Given the description of an element on the screen output the (x, y) to click on. 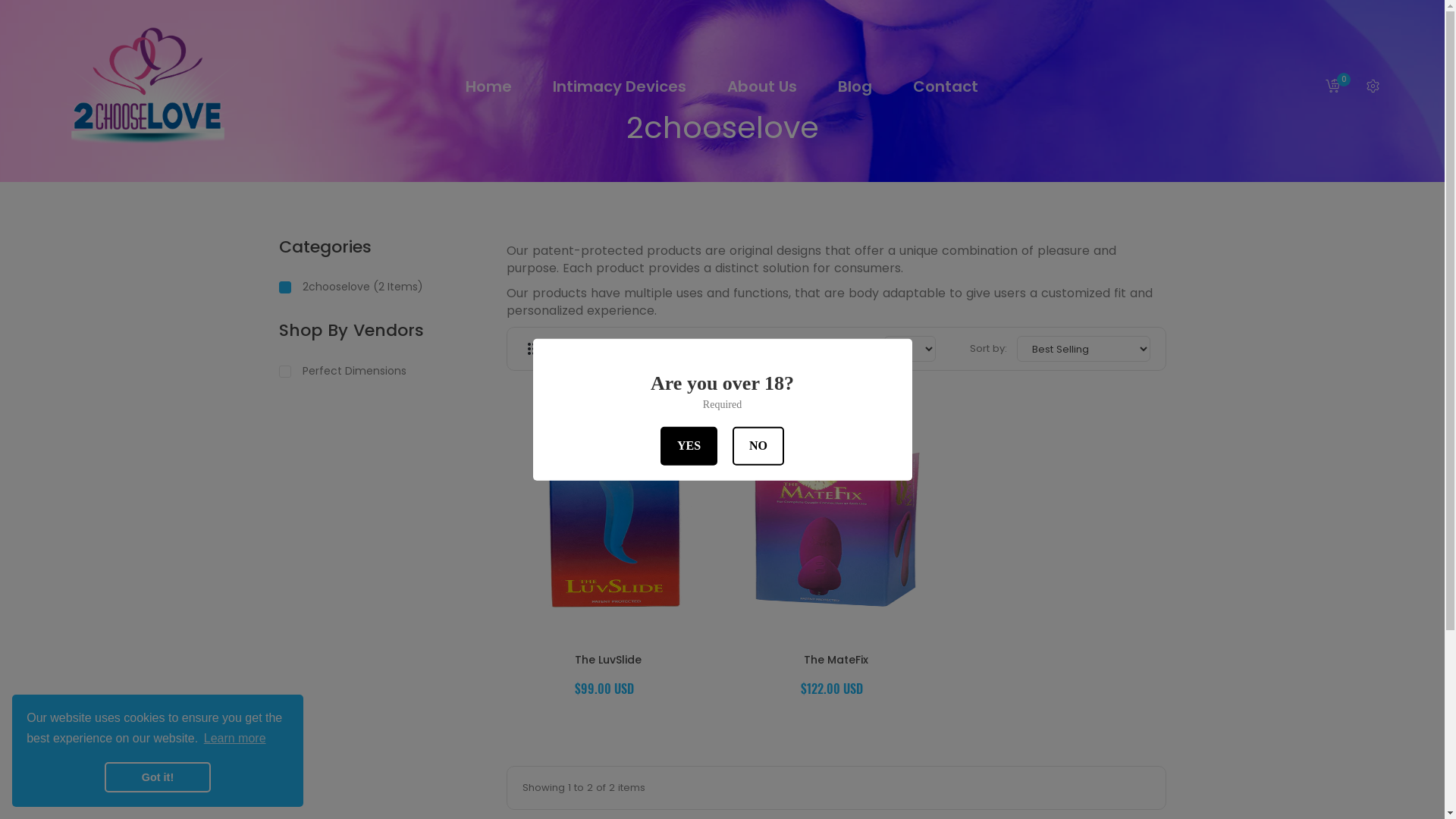
Home Element type: text (488, 86)
Perfect Dimensions Element type: text (381, 370)
Got it! Element type: text (157, 777)
The LuvSlide Element type: text (608, 659)
List Element type: text (633, 348)
NO Element type: text (758, 445)
The MateFix Element type: text (835, 659)
Learn more Element type: text (234, 738)
Blog Element type: text (854, 86)
YES Element type: text (688, 445)
Contact Element type: text (945, 86)
About Us Element type: text (760, 86)
2chooselove (2 Items) Element type: text (381, 286)
0 Element type: text (1332, 86)
4 Element type: text (566, 348)
3 Element type: text (533, 348)
5 Element type: text (599, 348)
Intimacy Devices Element type: text (618, 86)
